Given the description of an element on the screen output the (x, y) to click on. 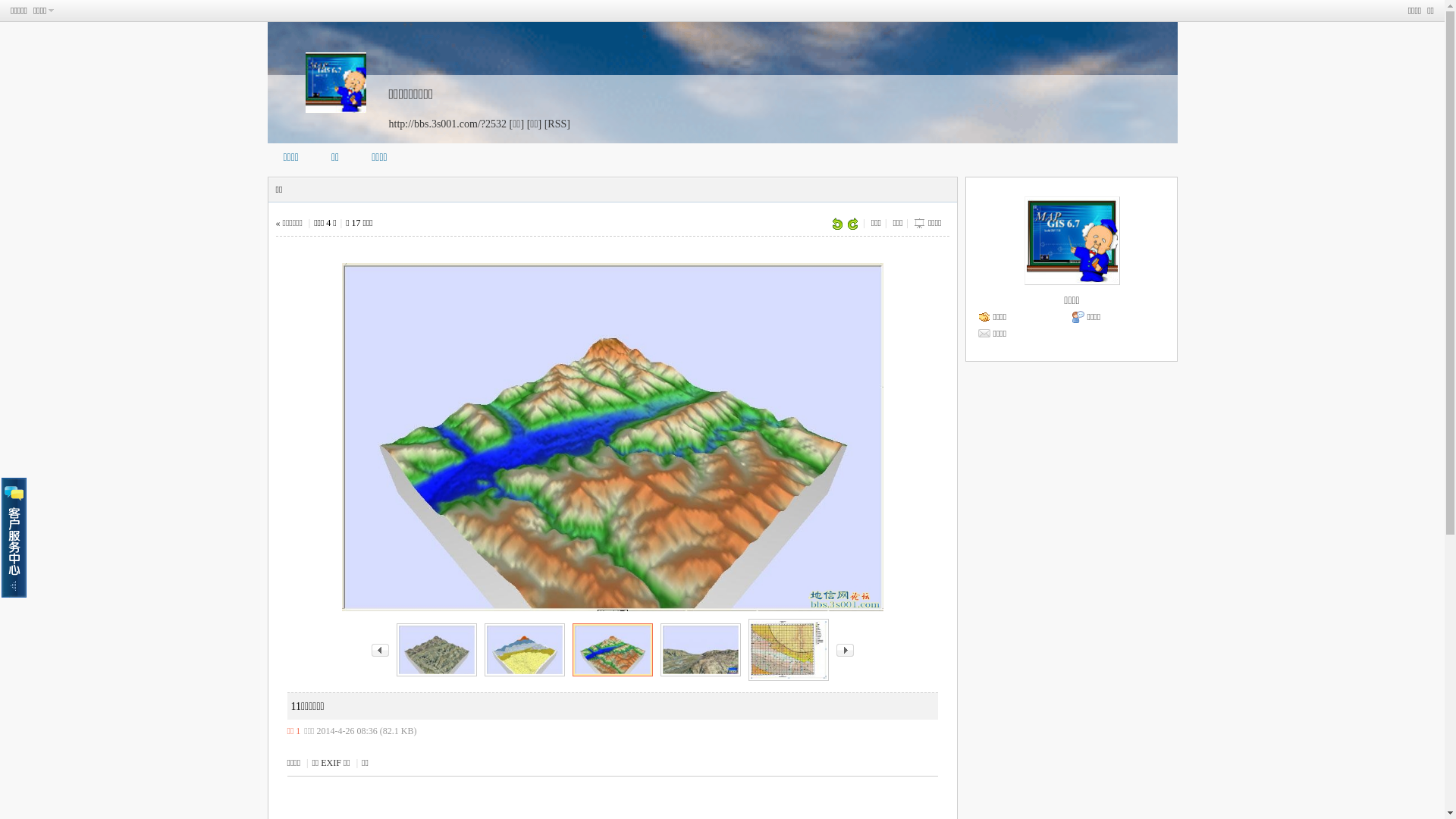
http://bbs.3s001.com/?2532 Element type: text (447, 123)
[RSS] Element type: text (557, 123)
